Given the description of an element on the screen output the (x, y) to click on. 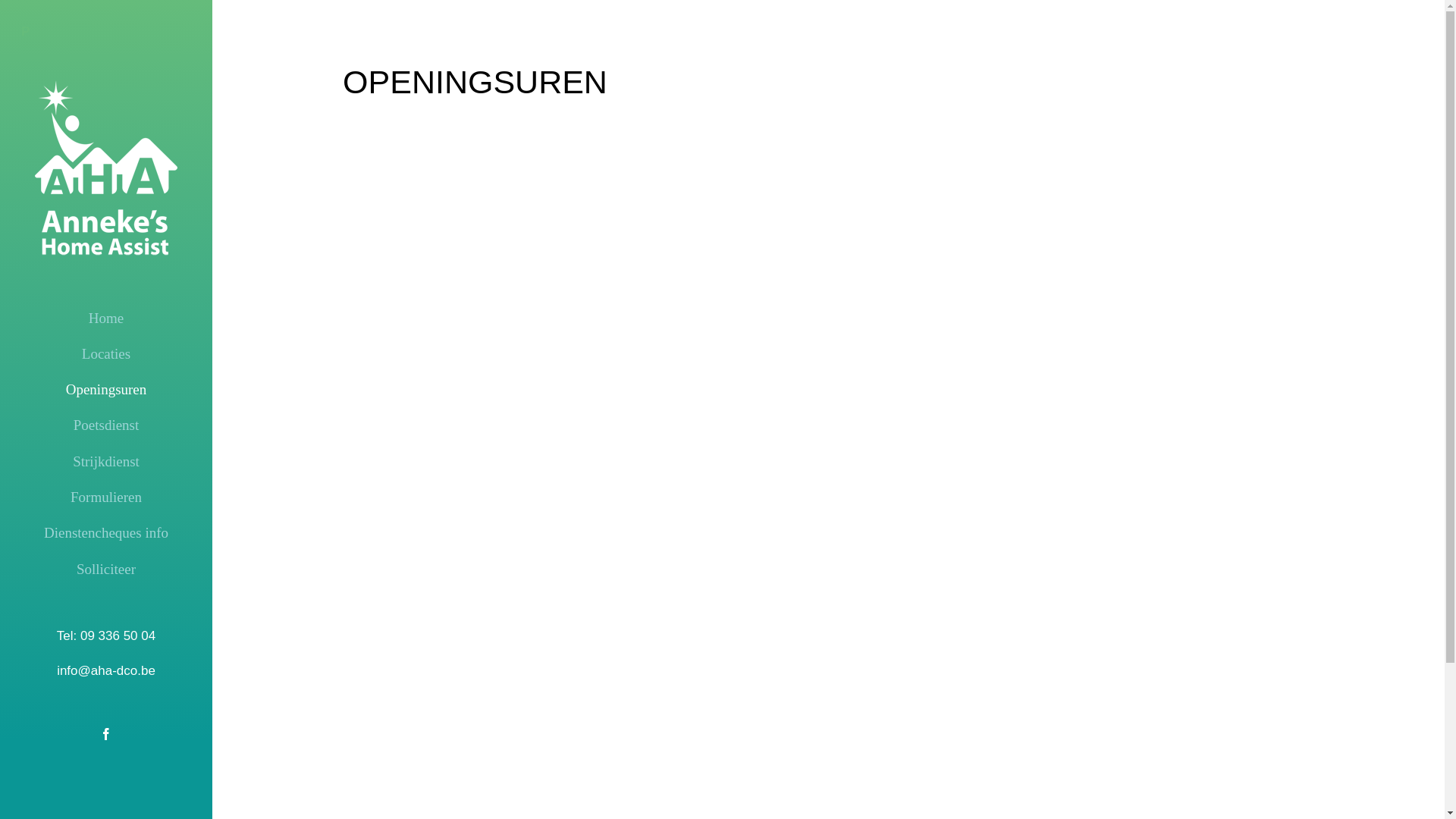
Dienstencheques info Element type: text (106, 532)
Solliciteer Element type: text (106, 569)
Tel: 09 336 50 04 Element type: text (105, 635)
Poetsdienst Element type: text (106, 425)
Locaties Element type: text (106, 354)
Openingsuren Element type: text (106, 389)
Facebook Element type: hover (106, 734)
info@aha-dco.be Element type: text (105, 670)
Formulieren Element type: text (106, 497)
Strijkdienst Element type: text (106, 461)
Home Element type: text (106, 318)
P Element type: text (106, 32)
